Given the description of an element on the screen output the (x, y) to click on. 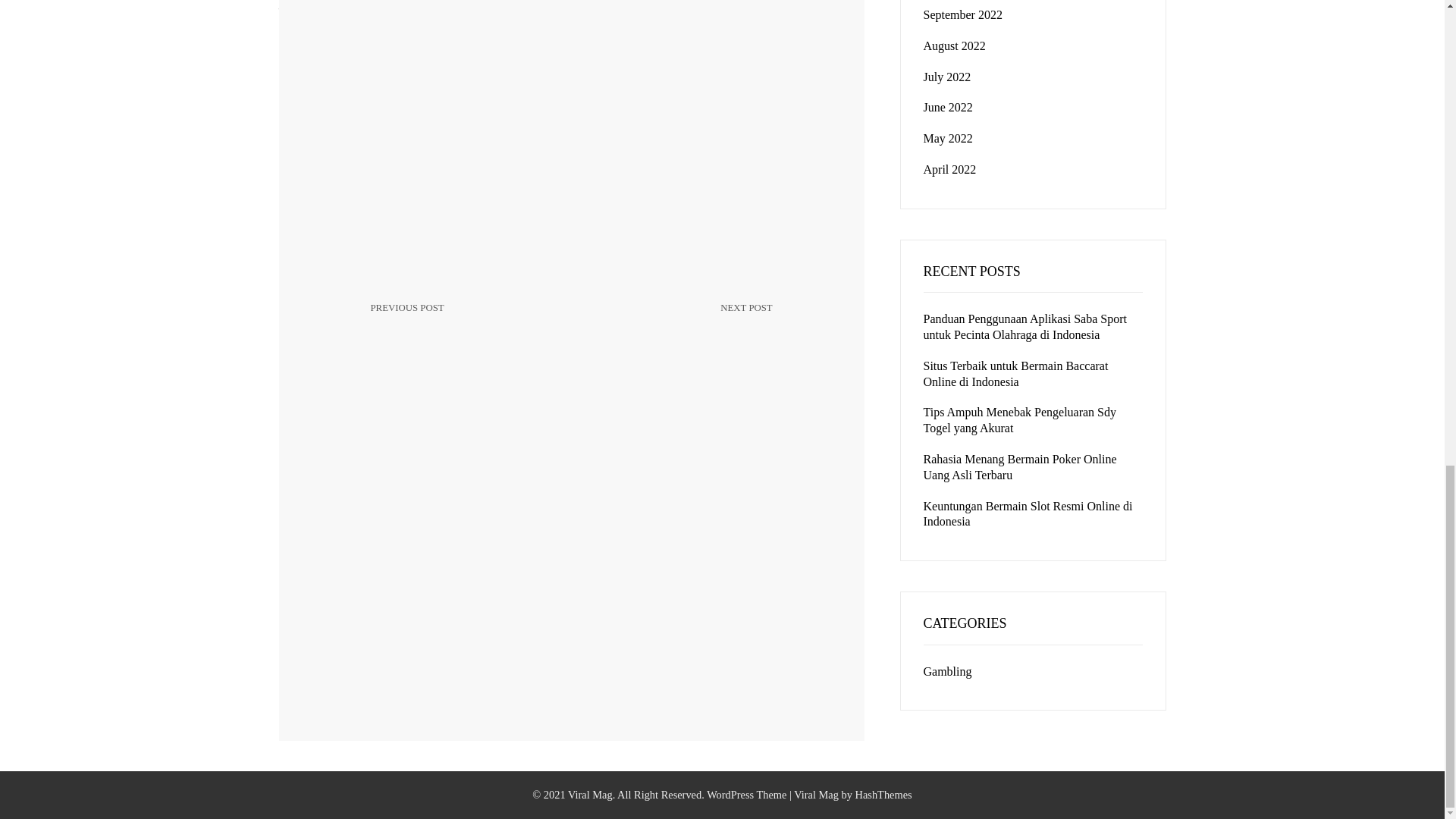
Download Viral News (462, 329)
September 2022 (680, 320)
